Given the description of an element on the screen output the (x, y) to click on. 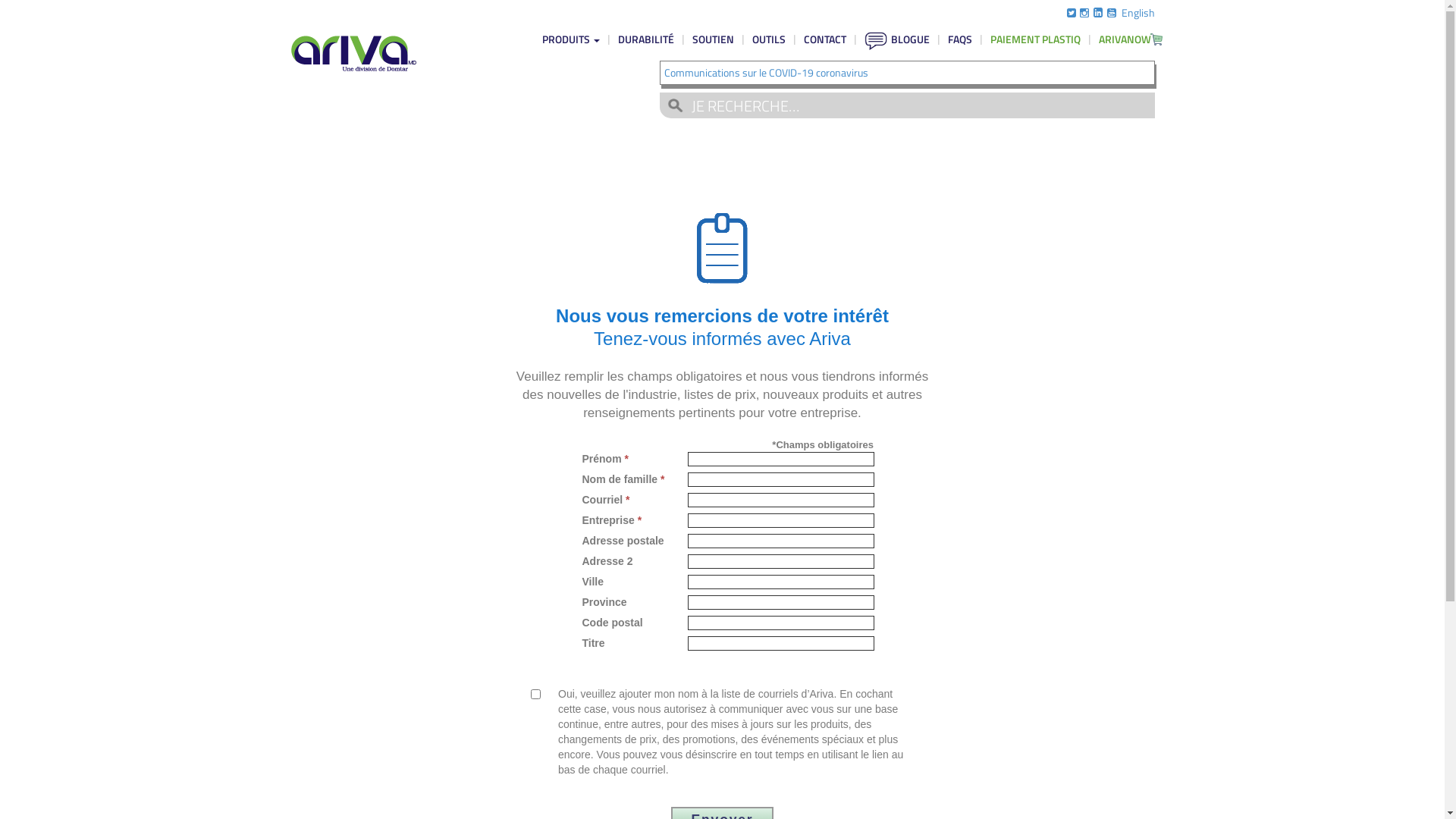
ARIVANOW Element type: text (1125, 39)
SOUTIEN Element type: text (712, 39)
Communications sur le COVID-19 coronavirus Element type: text (766, 72)
FAQS Element type: text (959, 39)
PAIEMENT PLASTIQ Element type: text (1035, 39)
PRODUITS Element type: text (569, 39)
English Element type: text (1137, 12)
OUTILS Element type: text (768, 39)
CONTACT Element type: text (824, 39)
BLOGUE Element type: text (896, 39)
